Given the description of an element on the screen output the (x, y) to click on. 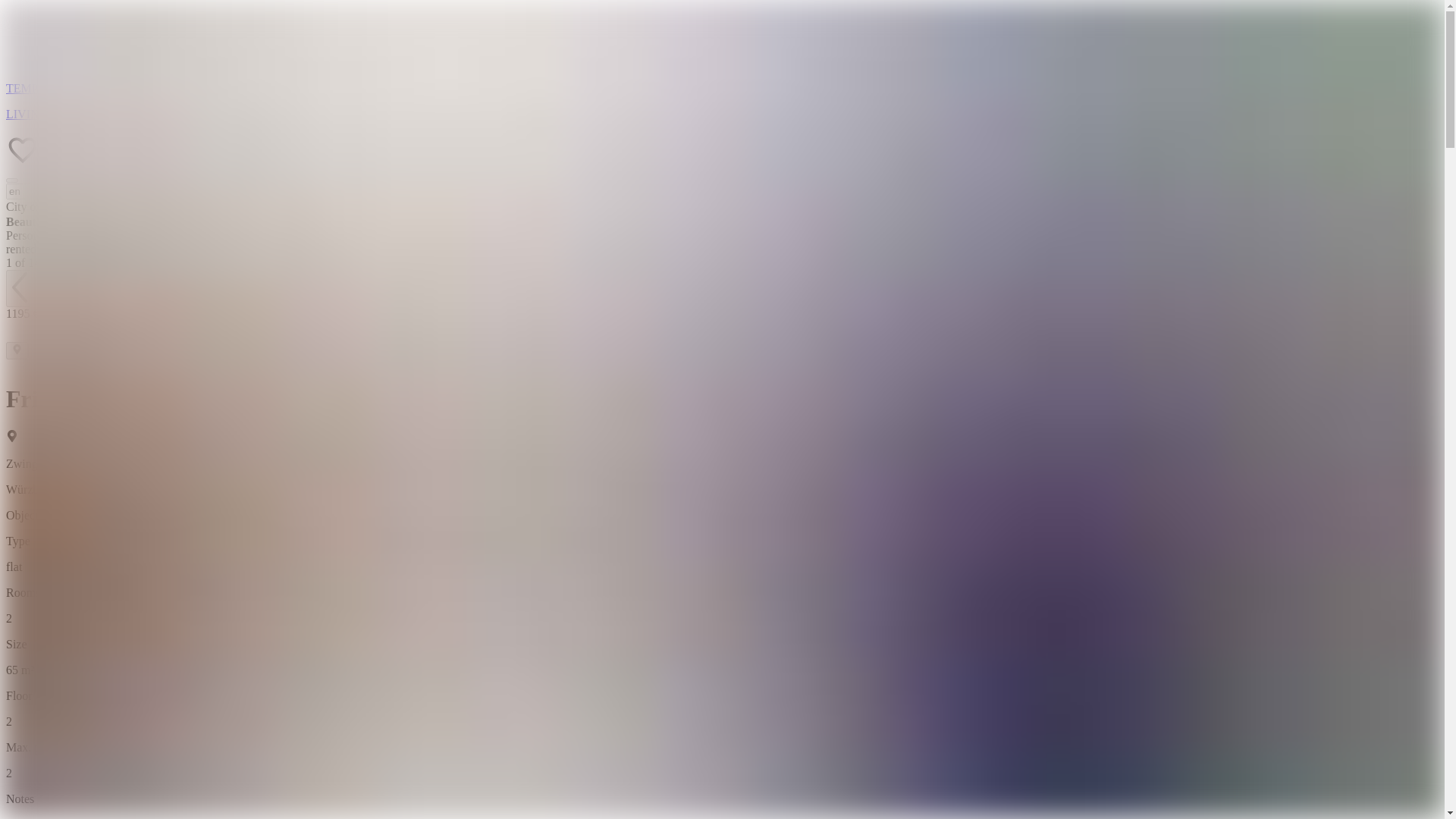
en (72, 191)
